Given the description of an element on the screen output the (x, y) to click on. 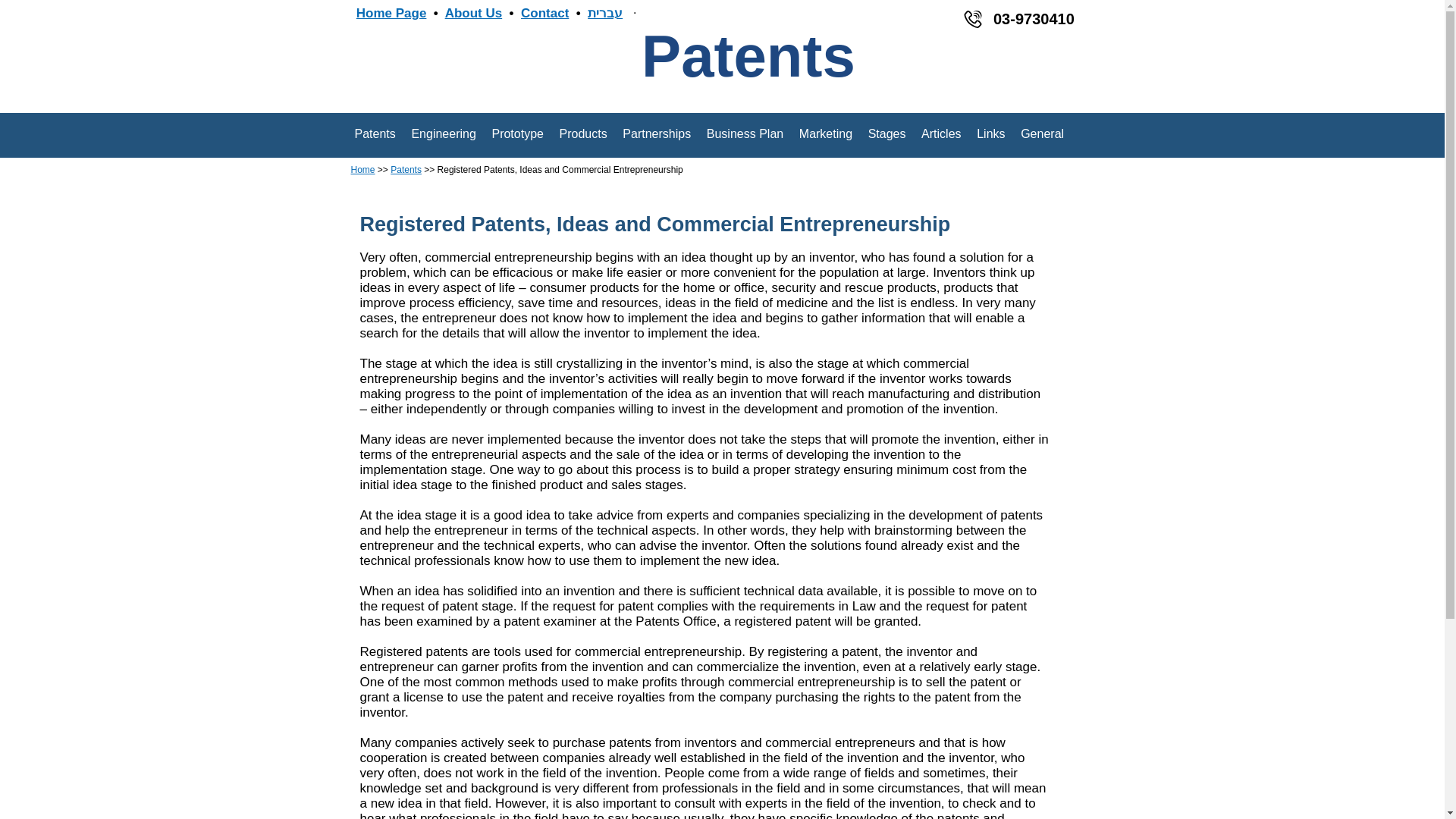
Business Plan (744, 134)
About Us (473, 12)
Links (991, 134)
phone6, phone, contact, telephone, support, call (972, 18)
Patents (374, 134)
Patents (406, 168)
Engineering (443, 134)
Home Page (391, 12)
Contact (545, 12)
Home (362, 168)
